Given the description of an element on the screen output the (x, y) to click on. 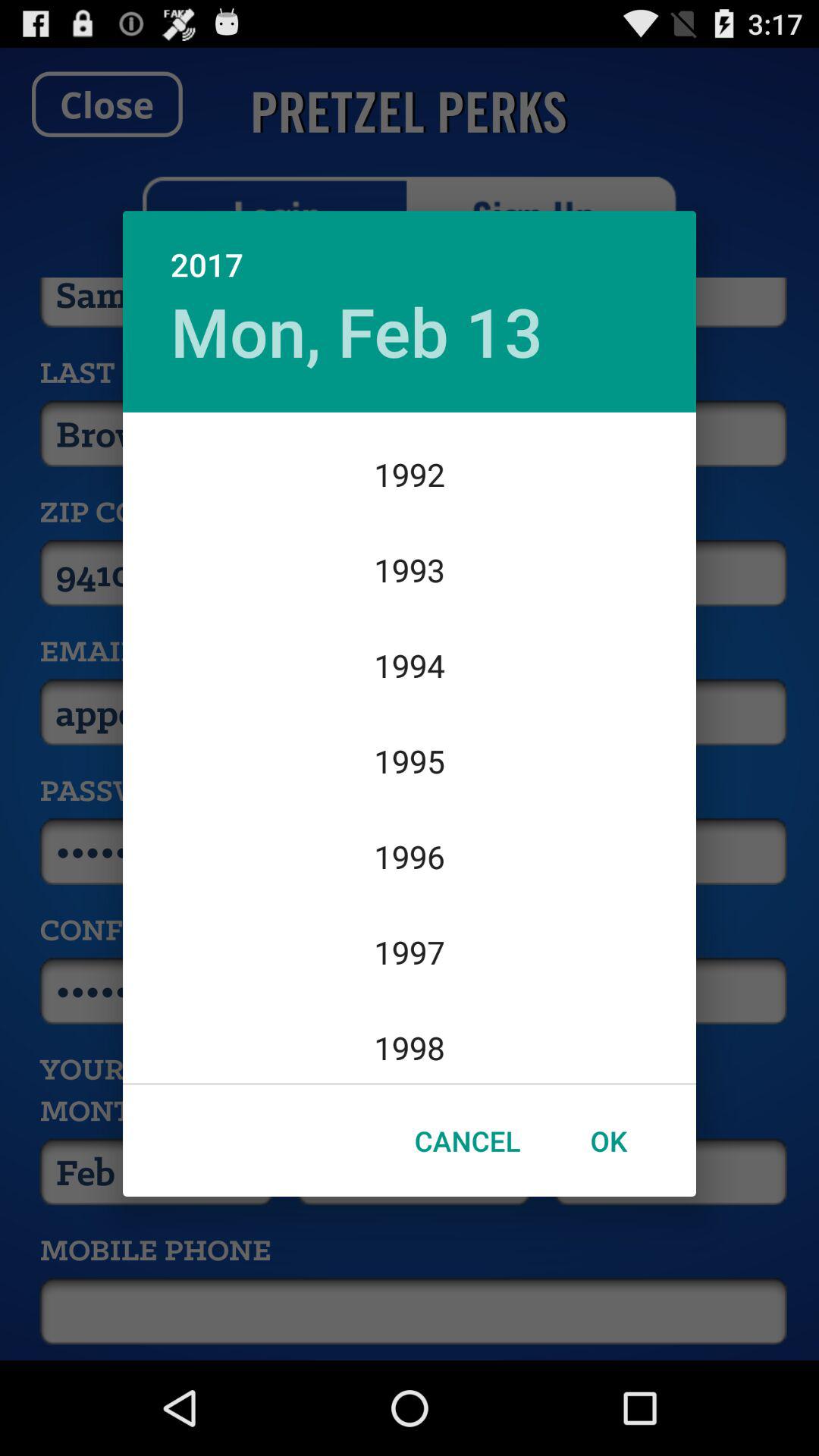
turn on item below the 2017 icon (356, 331)
